Given the description of an element on the screen output the (x, y) to click on. 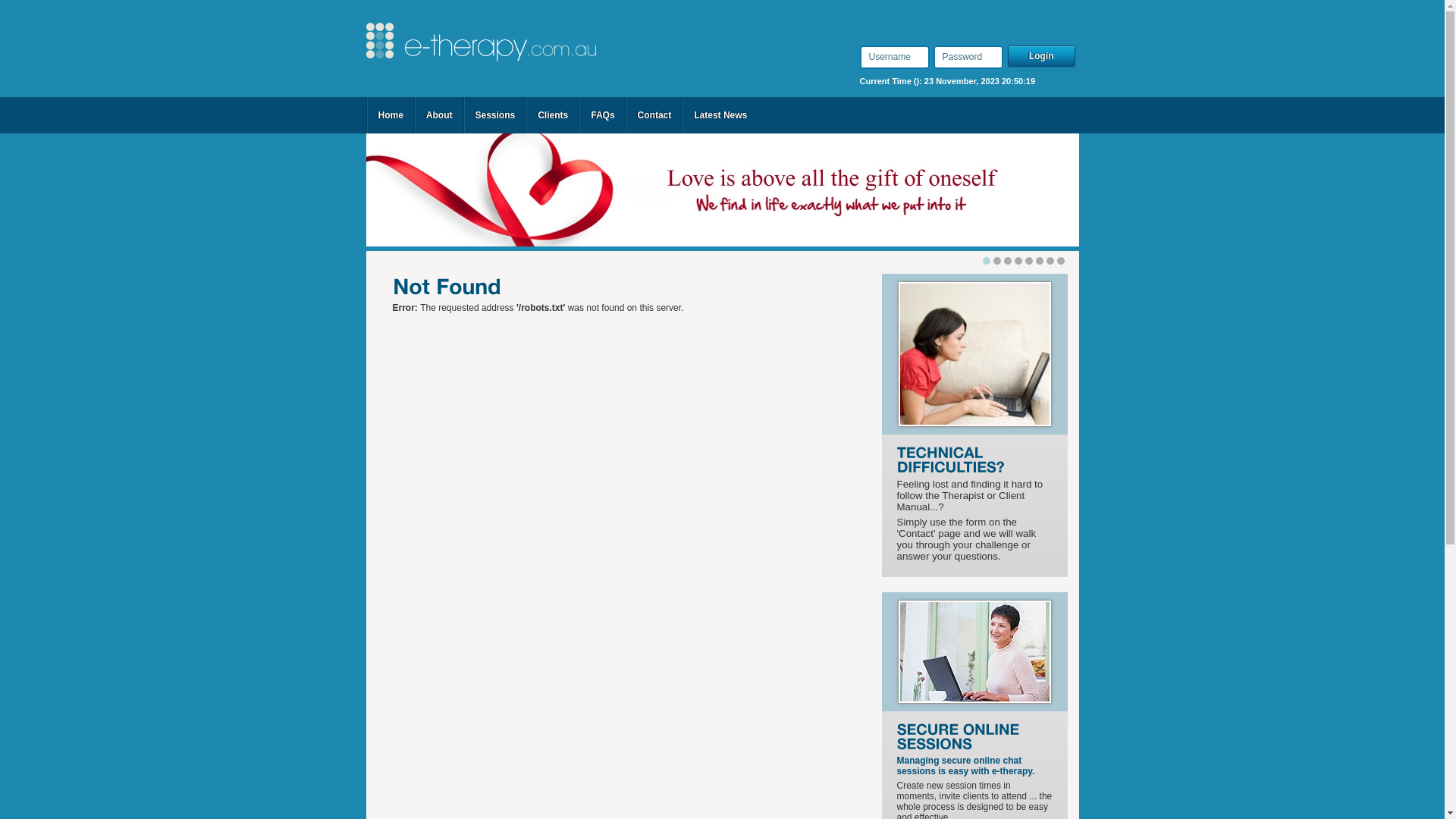
4 Element type: text (1028, 260)
Latest News Element type: text (720, 115)
About Element type: text (439, 115)
7 Element type: text (1060, 260)
Sessions Element type: text (494, 115)
5 Element type: text (1039, 260)
Login Element type: text (1043, 56)
1 Element type: text (997, 260)
Contact Element type: text (654, 115)
Clients Element type: text (552, 115)
6 Element type: text (1050, 260)
2 Element type: text (1007, 260)
Home Element type: text (390, 115)
Love Element type: hover (721, 189)
3 Element type: text (1018, 260)
0 Element type: text (986, 260)
FAQs Element type: text (602, 115)
